Given the description of an element on the screen output the (x, y) to click on. 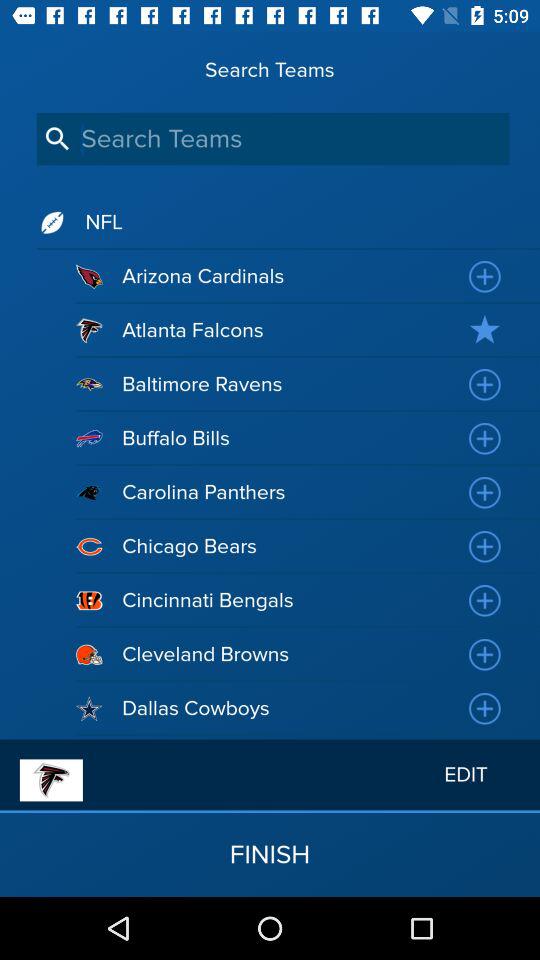
search bar (272, 138)
